Given the description of an element on the screen output the (x, y) to click on. 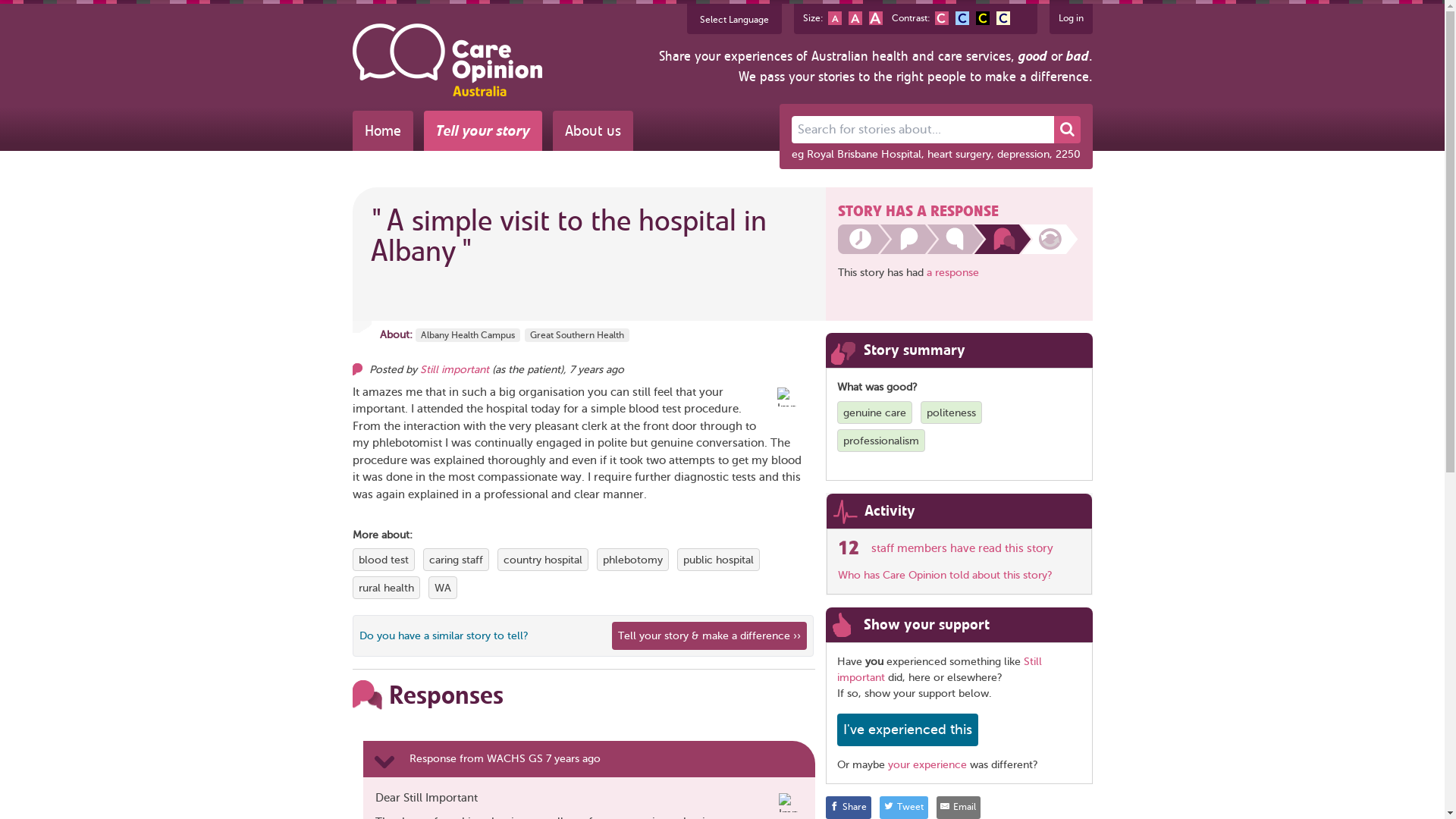
a response Element type: text (952, 272)
Care Opinion home page Element type: hover (446, 59)
About us Element type: text (592, 130)
Who has Care Opinion told about this story? Element type: text (944, 574)
Home Element type: text (381, 130)
Still important Element type: text (939, 669)
genuine care Element type: text (874, 412)
professionalism Element type: text (881, 440)
Tell your story Element type: text (482, 130)
your experience Element type: text (926, 764)
Great Southern Health Element type: text (576, 335)
Log in Element type: text (1070, 17)
High visibility Element type: text (981, 18)
Blue Element type: text (962, 18)
caring staff Element type: text (456, 559)
Soft Element type: text (1003, 18)
I've experienced this Element type: text (907, 729)
Larger Element type: text (875, 18)
Albany Health Campus Element type: text (467, 335)
politeness Element type: text (950, 412)
Reset Element type: text (854, 18)
staff members have read this story Element type: text (962, 548)
phlebotomy Element type: text (632, 559)
Search for stories about... Element type: hover (922, 129)
Default (Purple) Element type: text (940, 18)
Smaller Element type: text (834, 18)
Still important Element type: text (454, 369)
public hospital Element type: text (717, 559)
WA Element type: text (441, 588)
country hospital Element type: text (542, 559)
rural health Element type: text (385, 588)
blood test Element type: text (382, 559)
